Given the description of an element on the screen output the (x, y) to click on. 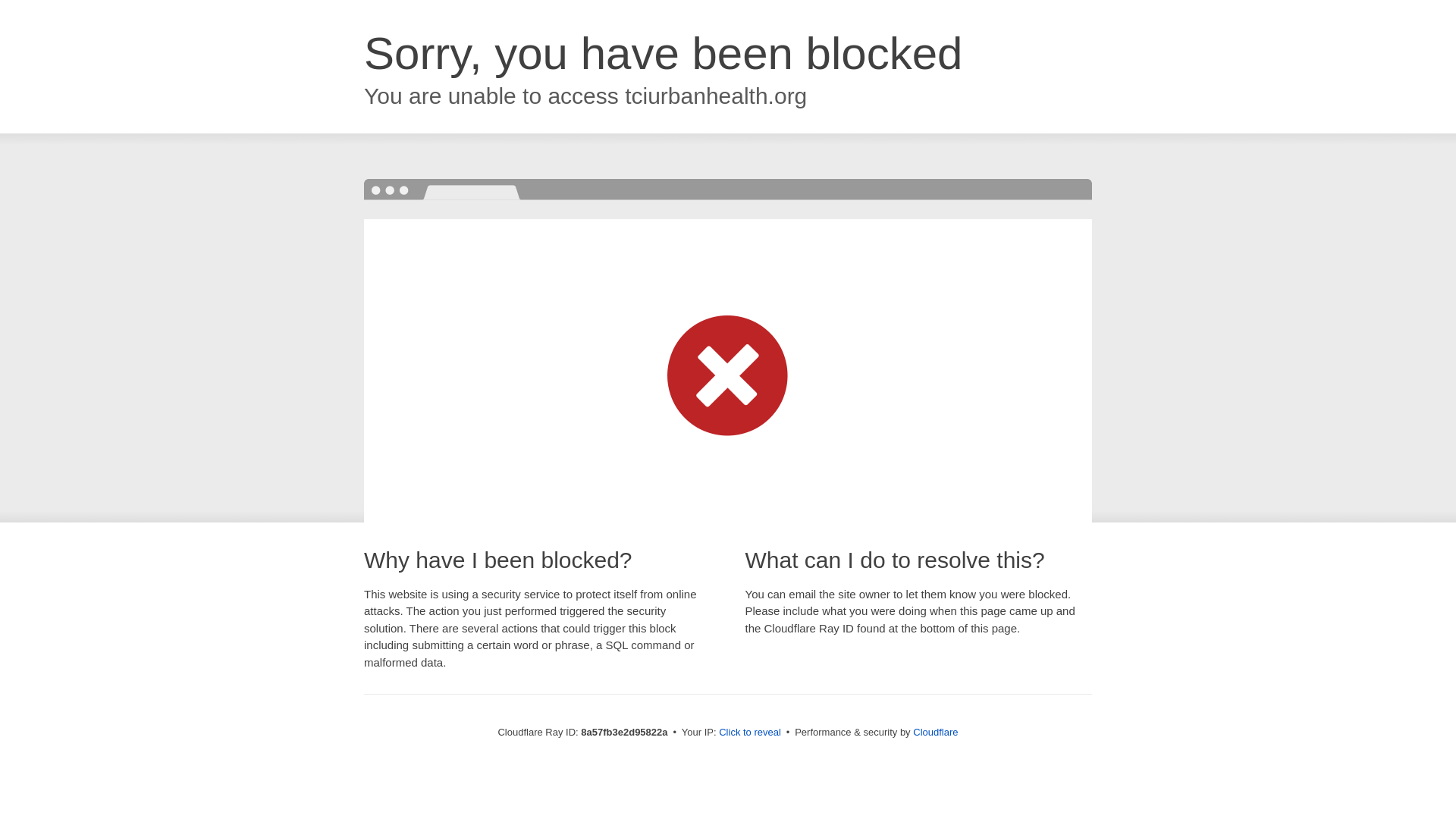
Click to reveal (749, 732)
Cloudflare (935, 731)
